Given the description of an element on the screen output the (x, y) to click on. 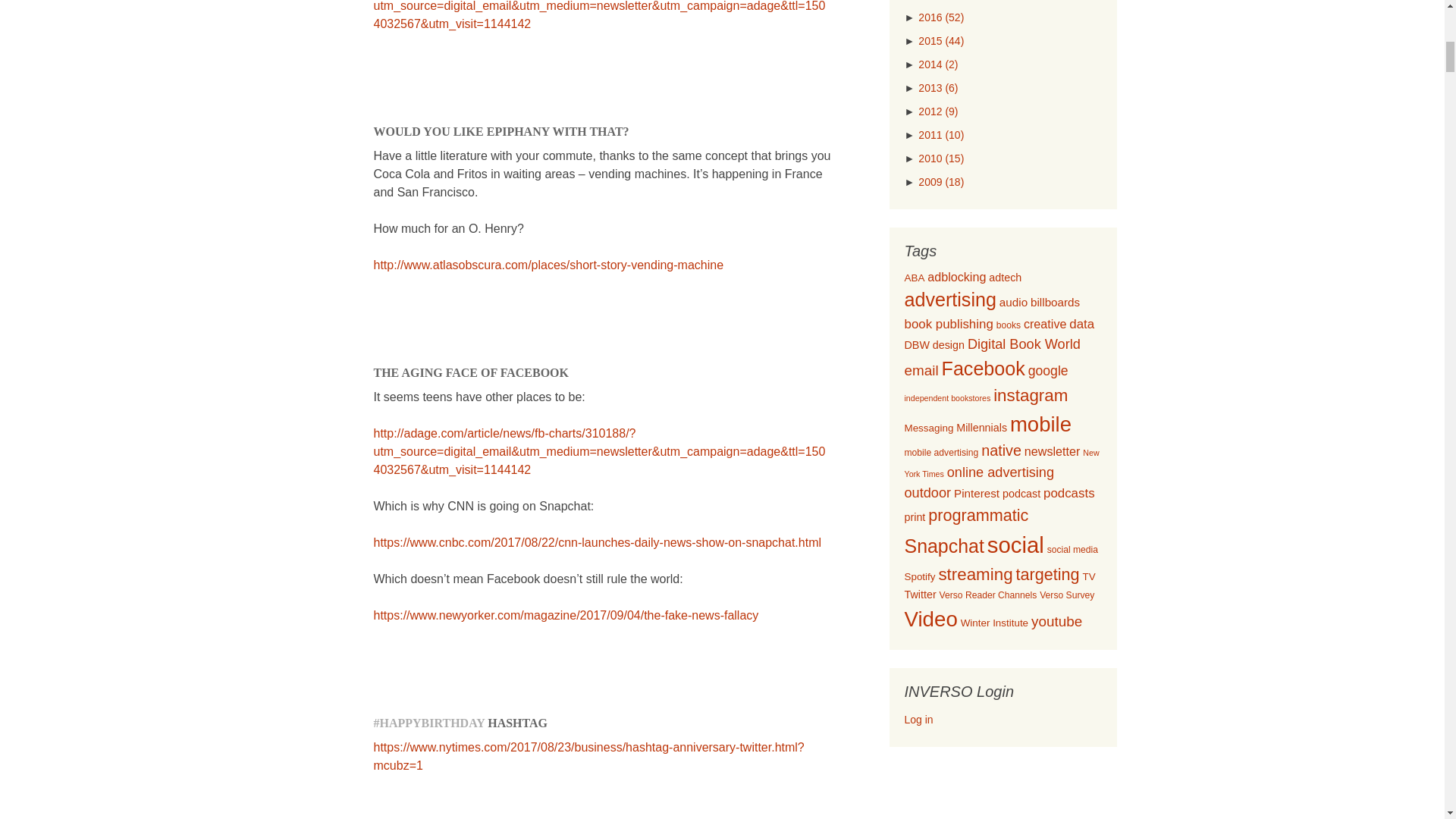
HAPPYBIRTHDAY (431, 722)
